Given the description of an element on the screen output the (x, y) to click on. 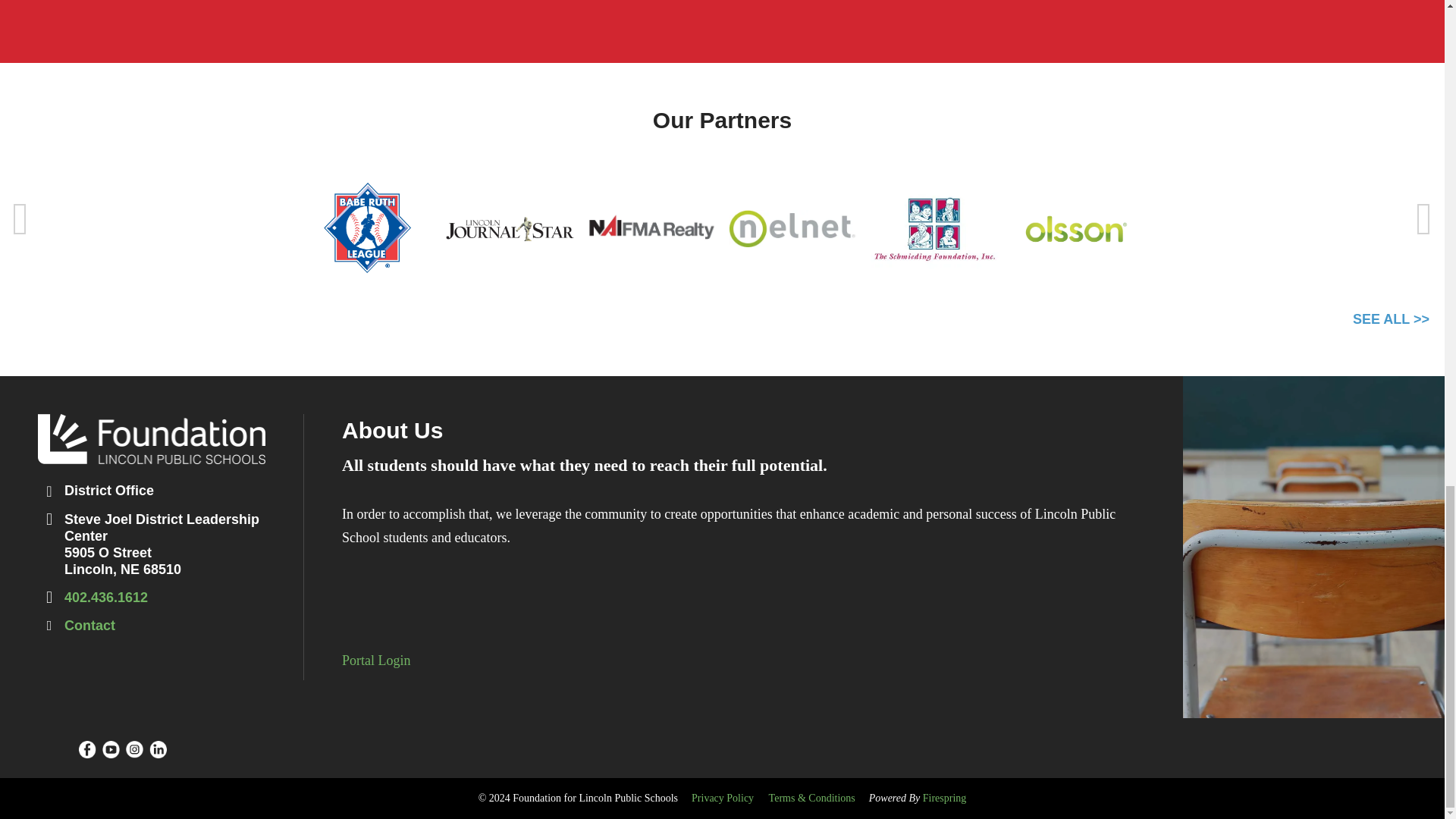
logo (150, 439)
